Given the description of an element on the screen output the (x, y) to click on. 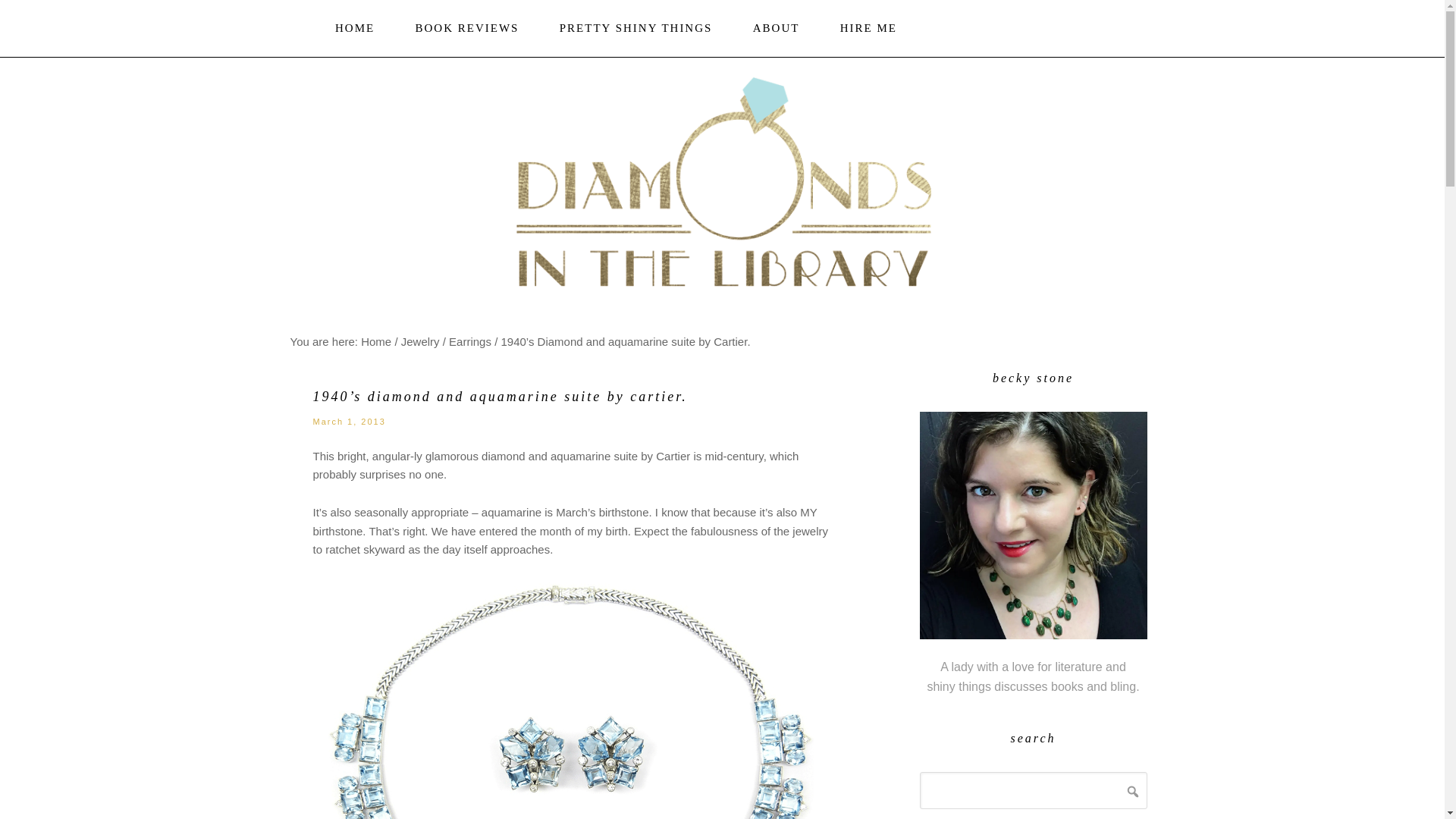
PRETTY SHINY THINGS (635, 28)
Jewelry (420, 341)
HIRE ME (868, 28)
BOOK REVIEWS (467, 28)
ABOUT (776, 28)
HOME (355, 28)
Earrings (470, 341)
Home (376, 341)
